Given the description of an element on the screen output the (x, y) to click on. 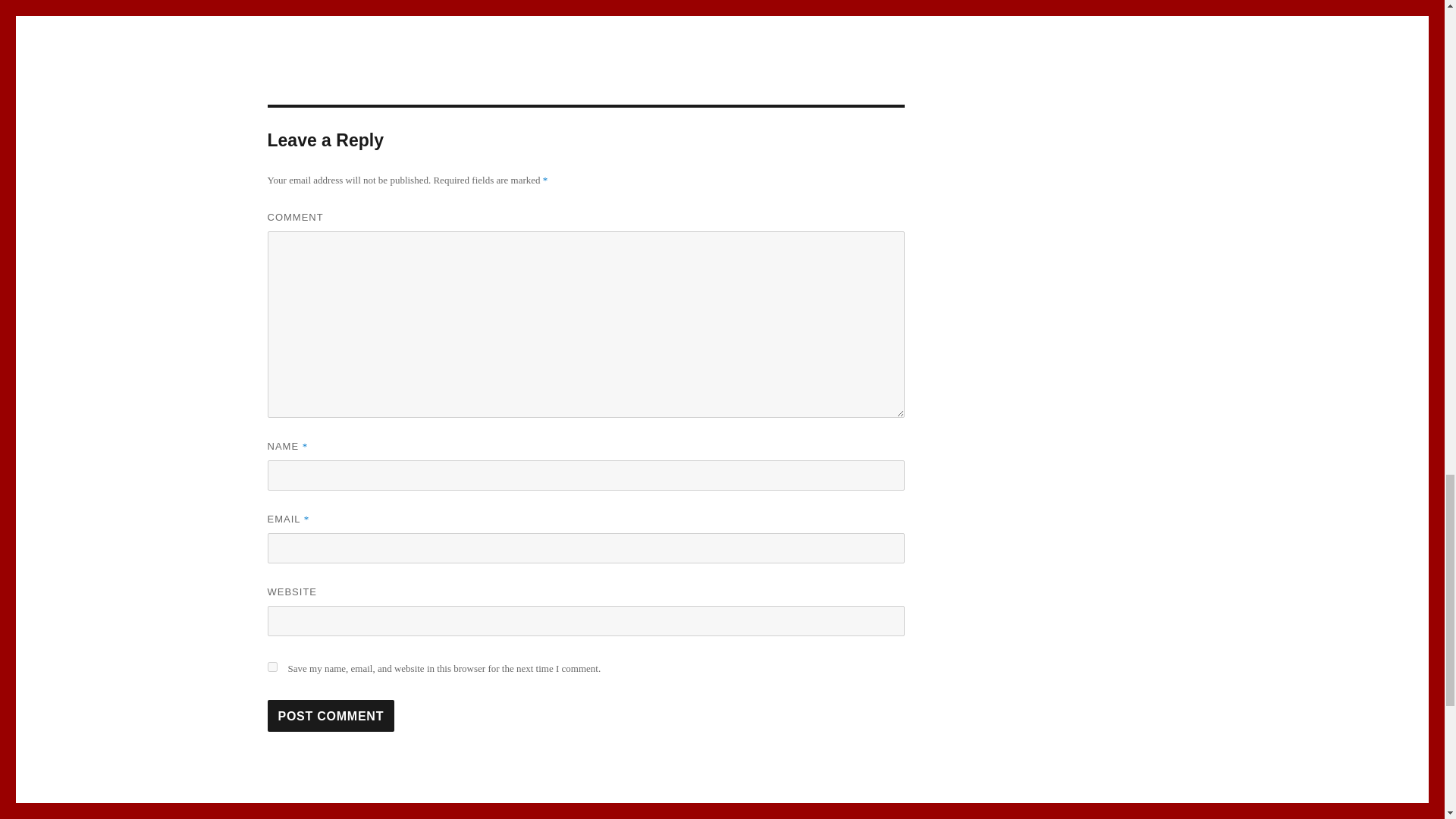
yes (271, 666)
Post Comment (330, 716)
Post Comment (330, 716)
